Given the description of an element on the screen output the (x, y) to click on. 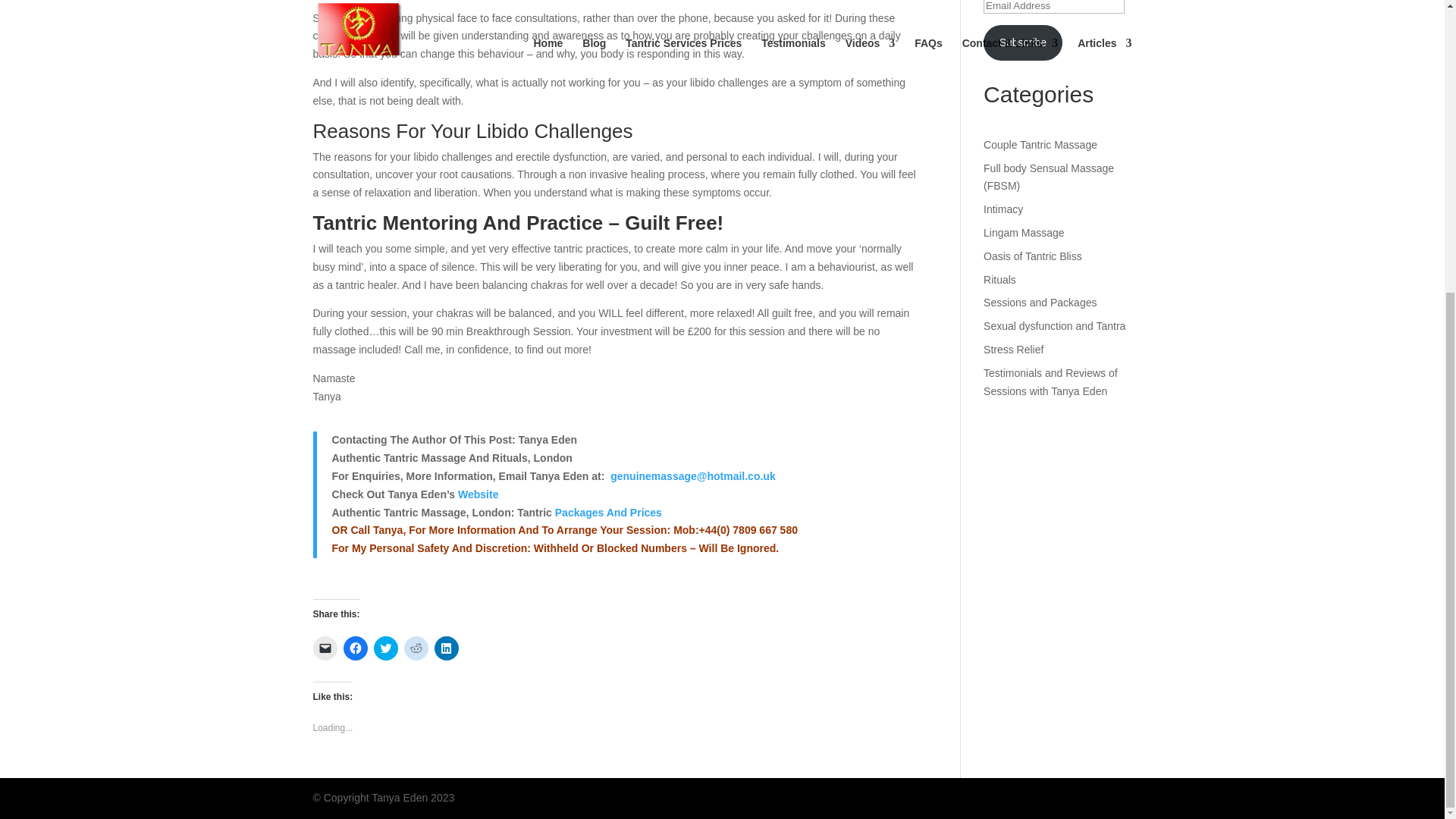
Click to share on Reddit (415, 648)
Packages And Prices (608, 511)
Click to email a link to a friend (324, 648)
Click to share on LinkedIn (445, 648)
Couple Tantric Massage (1040, 144)
Click to share on Facebook (354, 648)
Click to share on Twitter (384, 648)
Subscribe (1023, 42)
Website (477, 494)
